Given the description of an element on the screen output the (x, y) to click on. 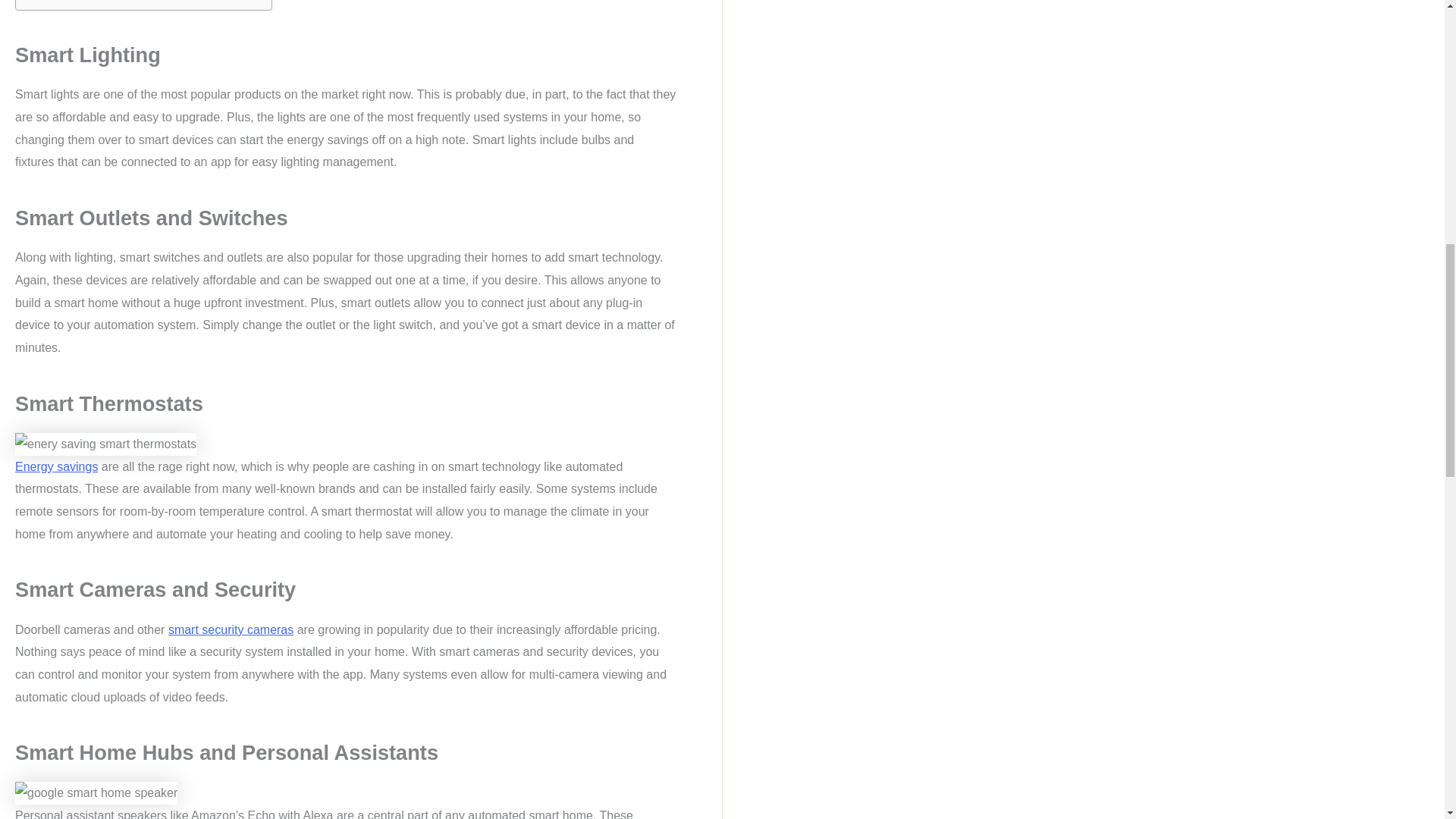
smart security cameras (231, 629)
Wrapping Up (95, 1)
Energy savings (55, 466)
Wrapping Up (95, 1)
